Given the description of an element on the screen output the (x, y) to click on. 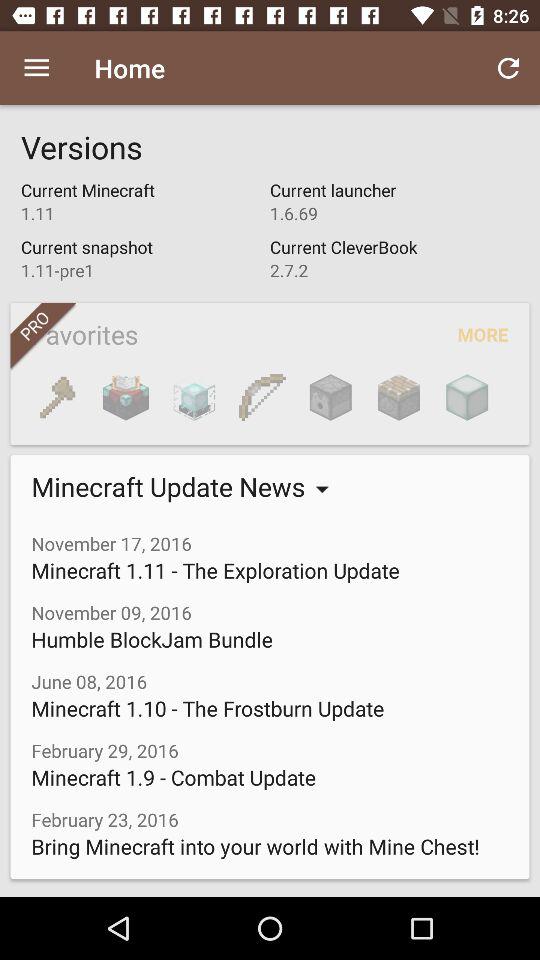
turn on the item next to the favorites (466, 397)
